Given the description of an element on the screen output the (x, y) to click on. 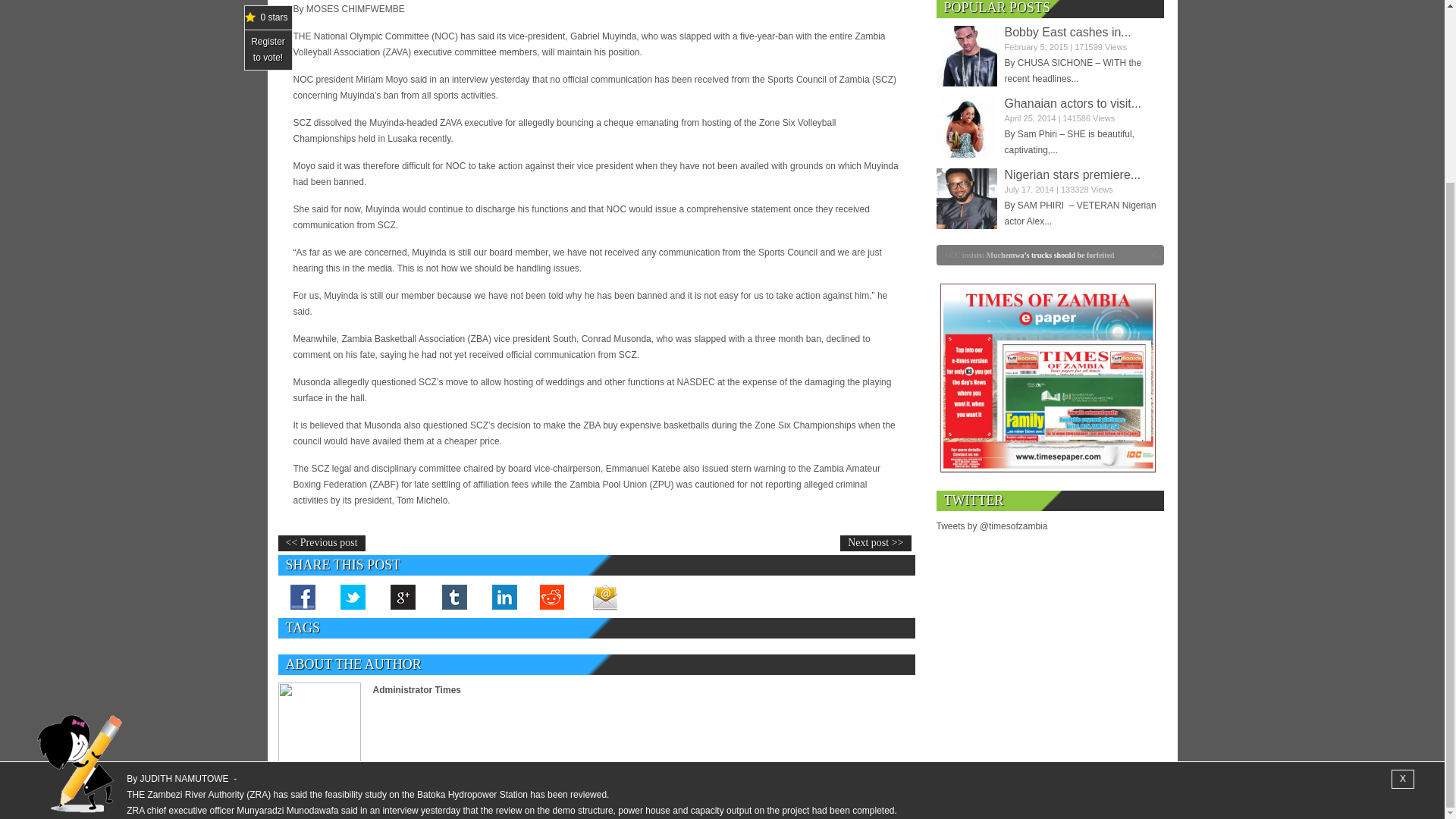
0 (864, 254)
Ghanaian actors to visit Zambia (1072, 103)
Ghanaian actors to visit Zambia (965, 127)
Twitter (352, 596)
Bobby East  cashes in at  The Bank Cafe (965, 55)
Tumblr (453, 596)
Bobby East  cashes in at  The Bank Cafe (1067, 31)
Register (267, 41)
Posts by Administrator Times (416, 689)
Reddit (553, 596)
Catholic priest suspected killer freed (1230, 254)
Email (603, 596)
Linkedin (502, 596)
Facebook (303, 596)
